Given the description of an element on the screen output the (x, y) to click on. 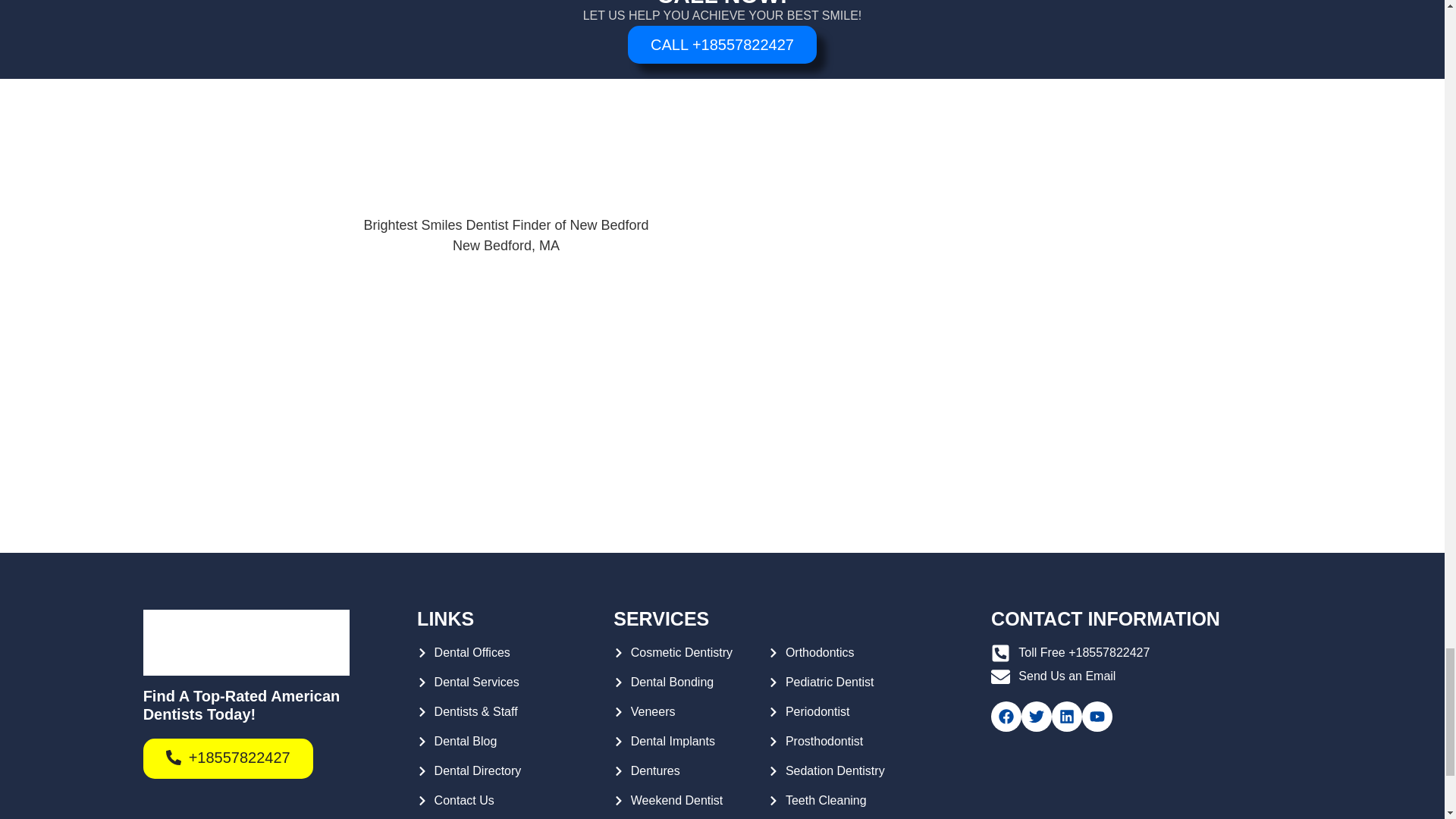
American-Association-of-Orthodontists (721, 492)
American-Board-of-Oral-and-Maxillofacial-Surgery (892, 492)
American-Board-of-Pediatric-Dentistry (553, 492)
American-Dental-Association (382, 492)
American-Academy-of-Cosmetic-Dentistry (1062, 492)
